Given the description of an element on the screen output the (x, y) to click on. 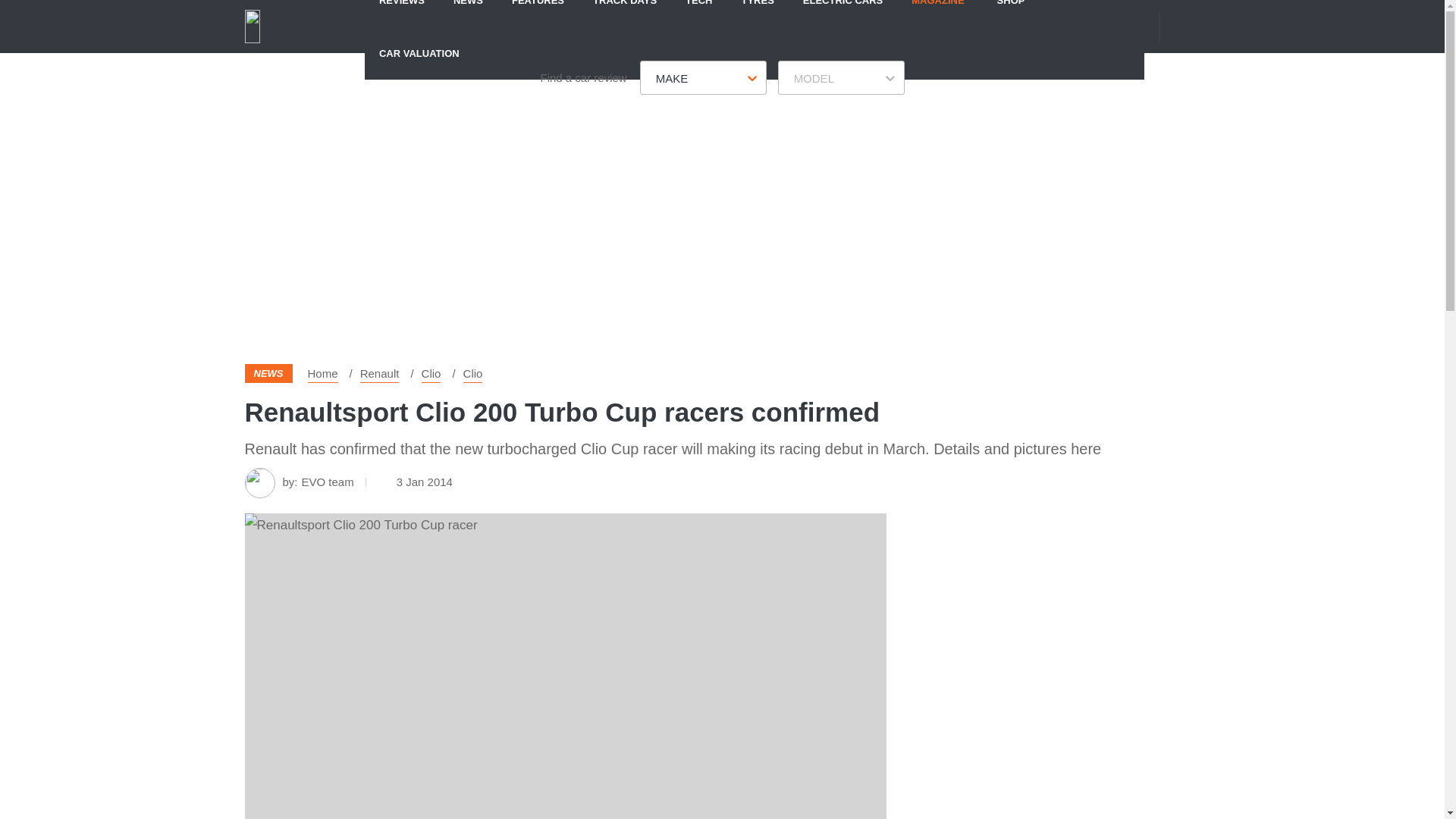
MAGAZINE (937, 13)
REVIEWS (402, 13)
ELECTRIC CARS (842, 13)
SHOP (1010, 13)
Search (1189, 26)
TRACK DAYS (624, 13)
TECH (698, 13)
NEWS (468, 13)
CAR VALUATION (419, 52)
FEATURES (537, 13)
TYRES (756, 13)
